Given the description of an element on the screen output the (x, y) to click on. 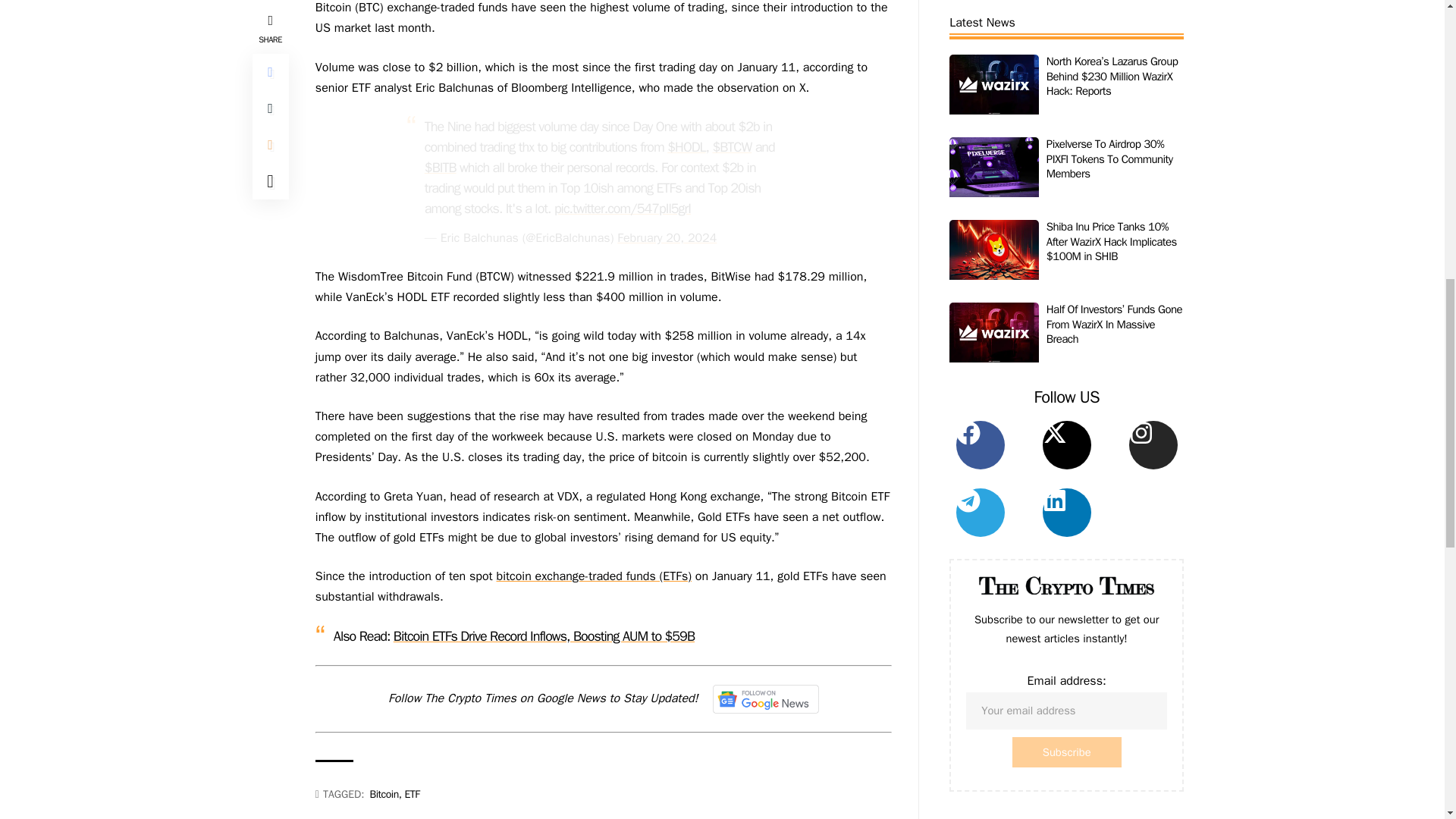
Subscribe (1066, 32)
